Given the description of an element on the screen output the (x, y) to click on. 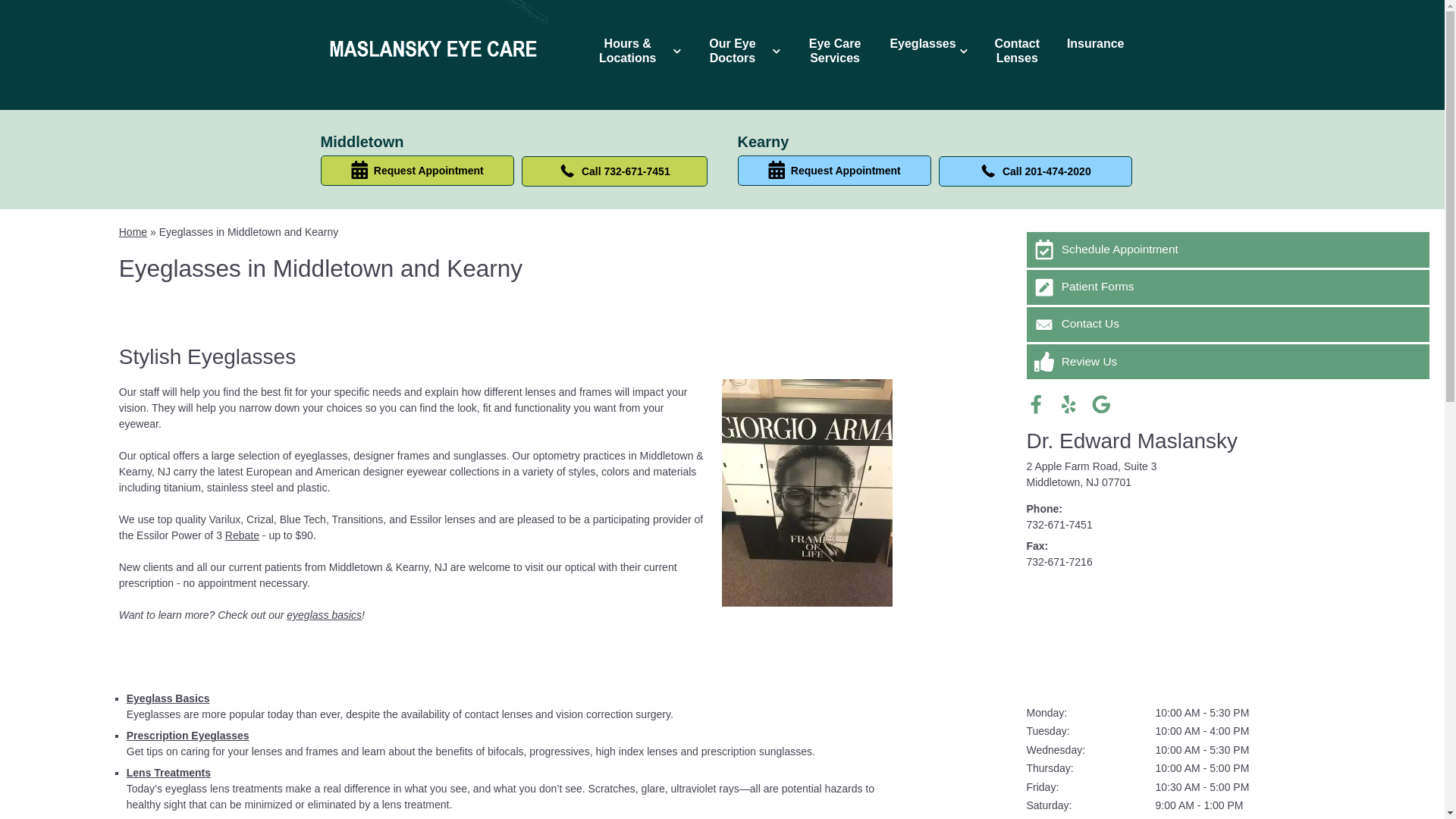
Insurance (1095, 43)
Patient Forms (1227, 287)
Eyeglass Basics (167, 698)
Call 732-671-7451 (614, 171)
Schedule Appointment (1227, 248)
Contact Lenses (1017, 50)
Rebate (242, 535)
Our Eye Doctors (737, 50)
Eyeglasses (928, 43)
Call 201-474-2020 (1035, 171)
